Given the description of an element on the screen output the (x, y) to click on. 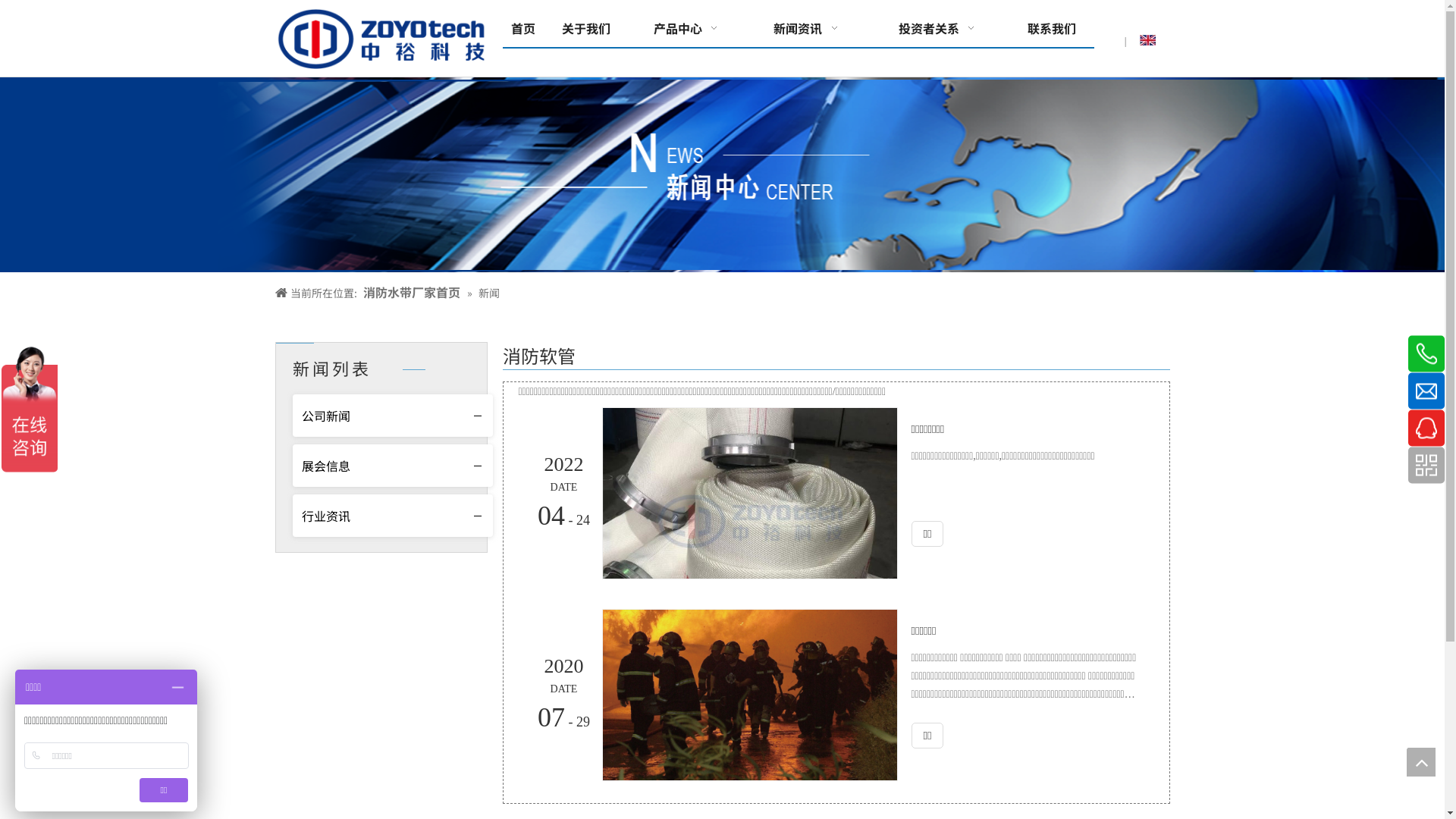
top Element type: text (1420, 761)
